Given the description of an element on the screen output the (x, y) to click on. 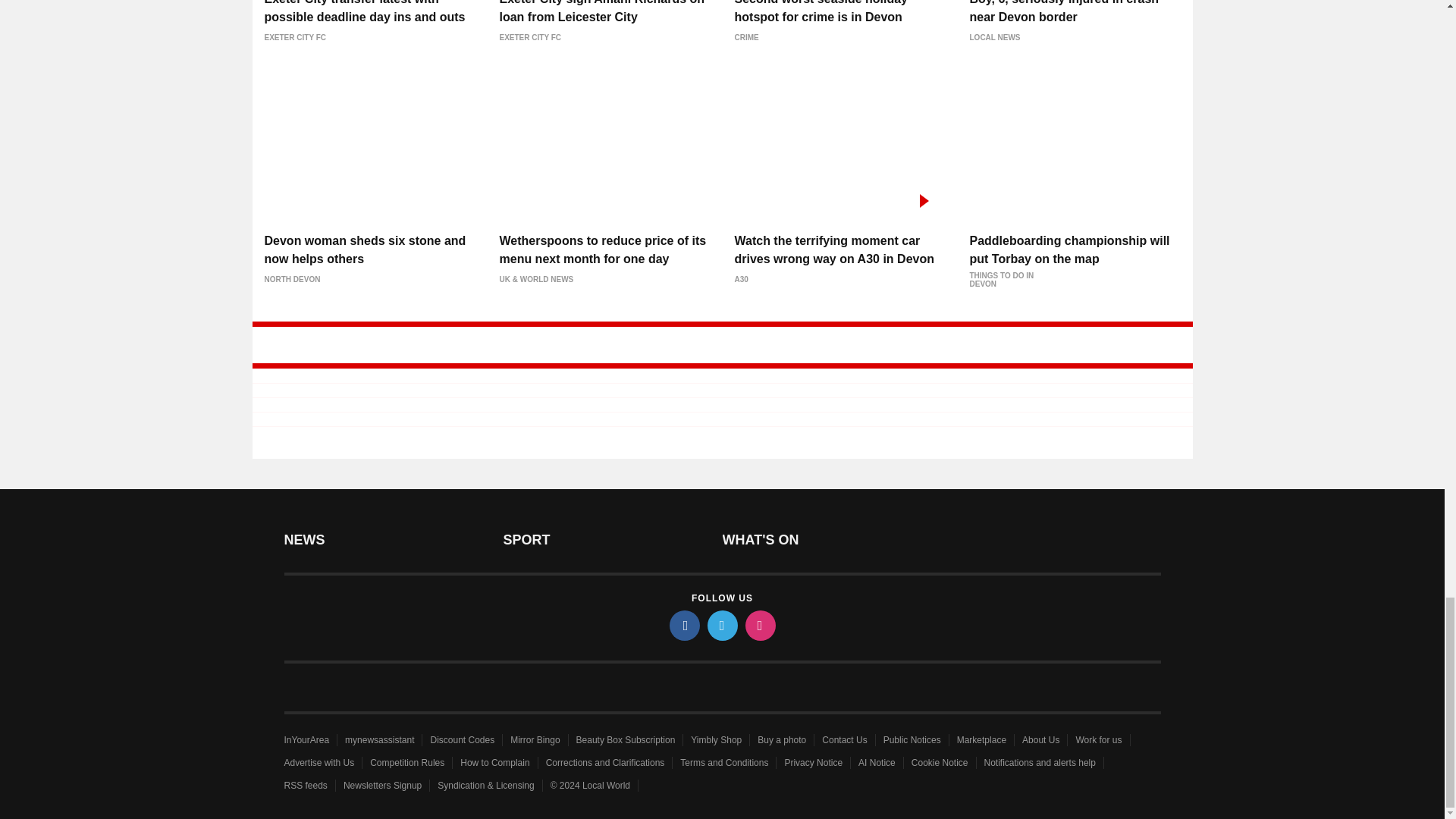
instagram (759, 625)
twitter (721, 625)
facebook (683, 625)
